Given the description of an element on the screen output the (x, y) to click on. 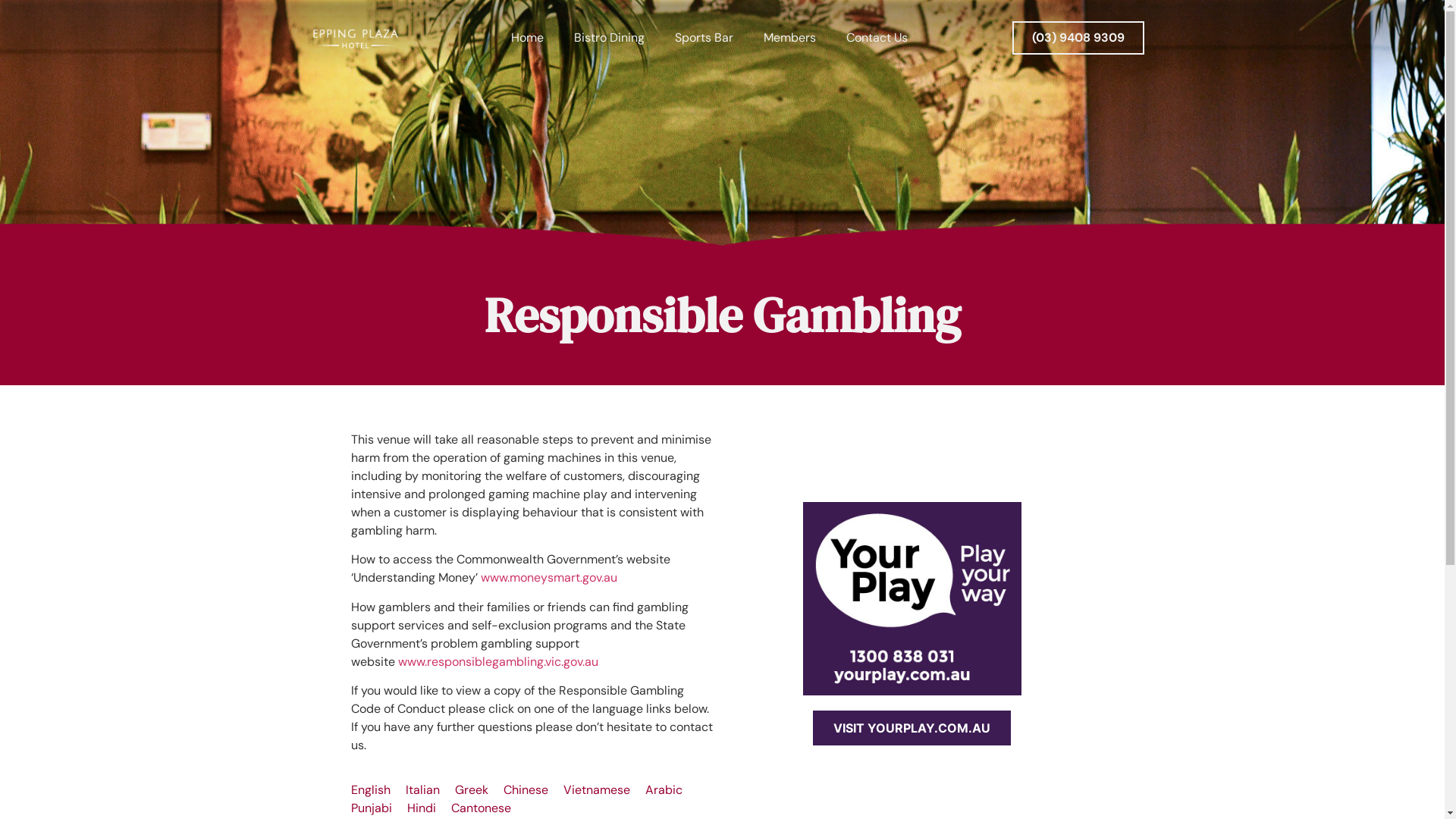
Contact Us Element type: text (876, 37)
www.responsiblegambling.vic.gov.au Element type: text (497, 661)
VISIT YOURPLAY.COM.AU Element type: text (911, 727)
Sports Bar Element type: text (703, 37)
Members Element type: text (789, 37)
Italian Element type: text (421, 790)
Chinese Element type: text (525, 790)
Vietnamese Element type: text (595, 790)
www.moneysmart.gov.au Element type: text (548, 577)
Punjabi Element type: text (370, 808)
Arabic Element type: text (662, 790)
Bistro Dining Element type: text (608, 37)
Home Element type: text (526, 37)
Hindi Element type: text (420, 808)
Greek Element type: text (471, 790)
English Element type: text (369, 790)
Cantonese Element type: text (480, 808)
(03) 9408 9309 Element type: text (1078, 37)
